Given the description of an element on the screen output the (x, y) to click on. 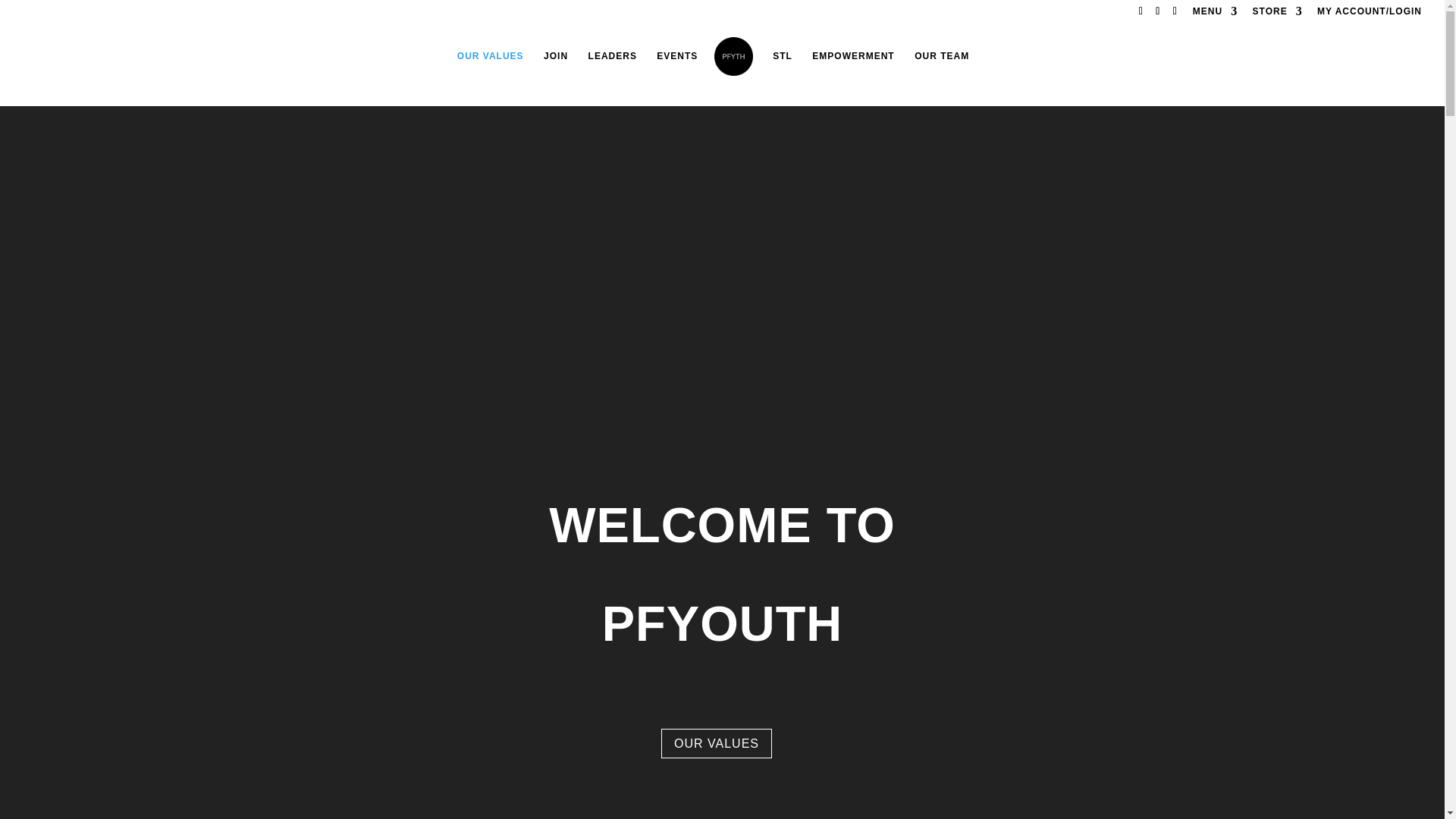
LEADERS (612, 67)
EVENTS (676, 67)
STL (782, 67)
MENU (1214, 14)
OUR VALUES (490, 67)
OUR TEAM (941, 67)
EMPOWERMENT (852, 67)
STORE (1277, 14)
JOIN (555, 67)
